Given the description of an element on the screen output the (x, y) to click on. 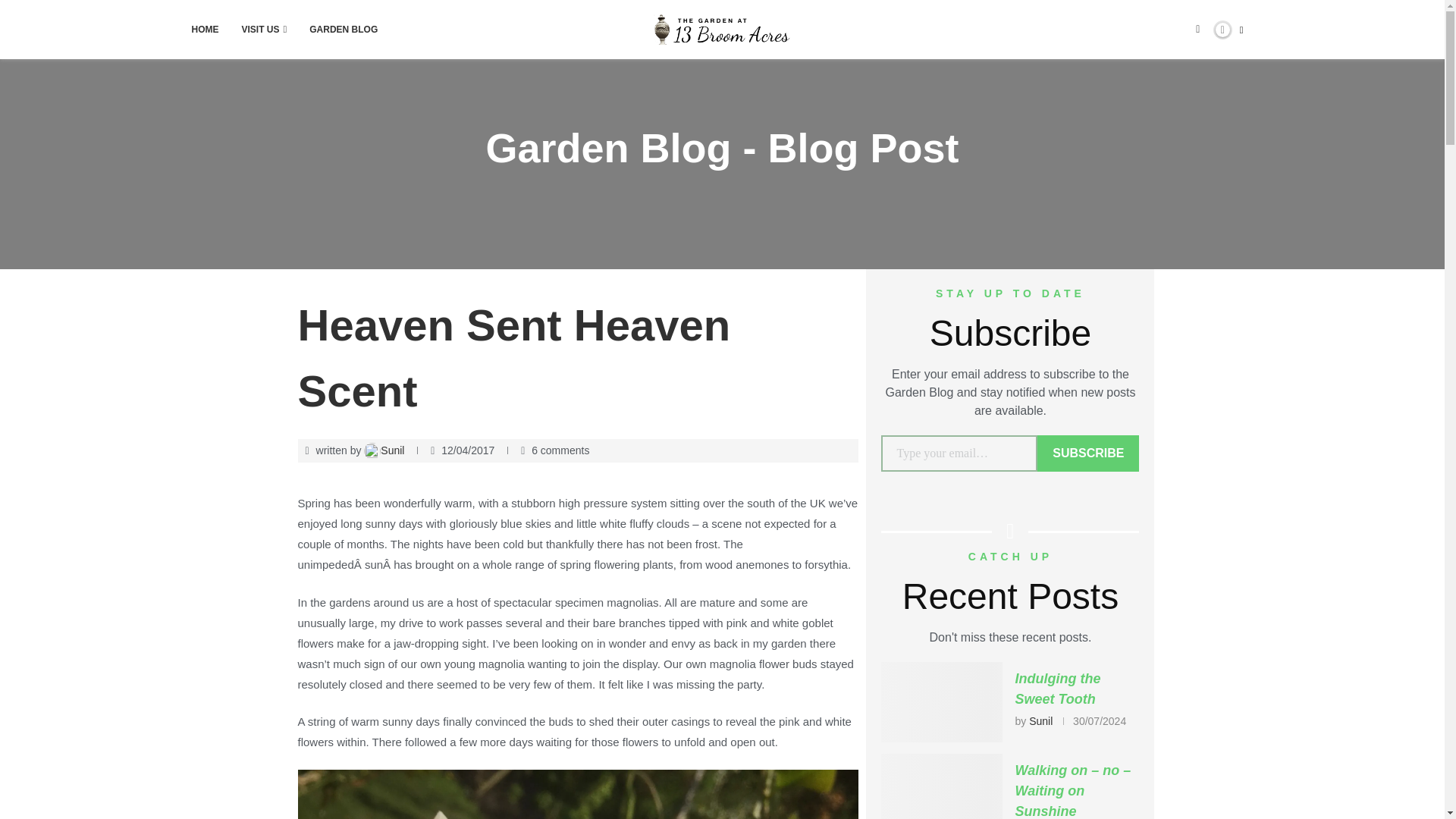
Sunil (385, 450)
Please fill in this field. (958, 453)
Indulging the Sweet Tooth (941, 701)
GARDEN BLOG (342, 29)
VISIT US (263, 29)
SUBSCRIBE (1087, 453)
